Given the description of an element on the screen output the (x, y) to click on. 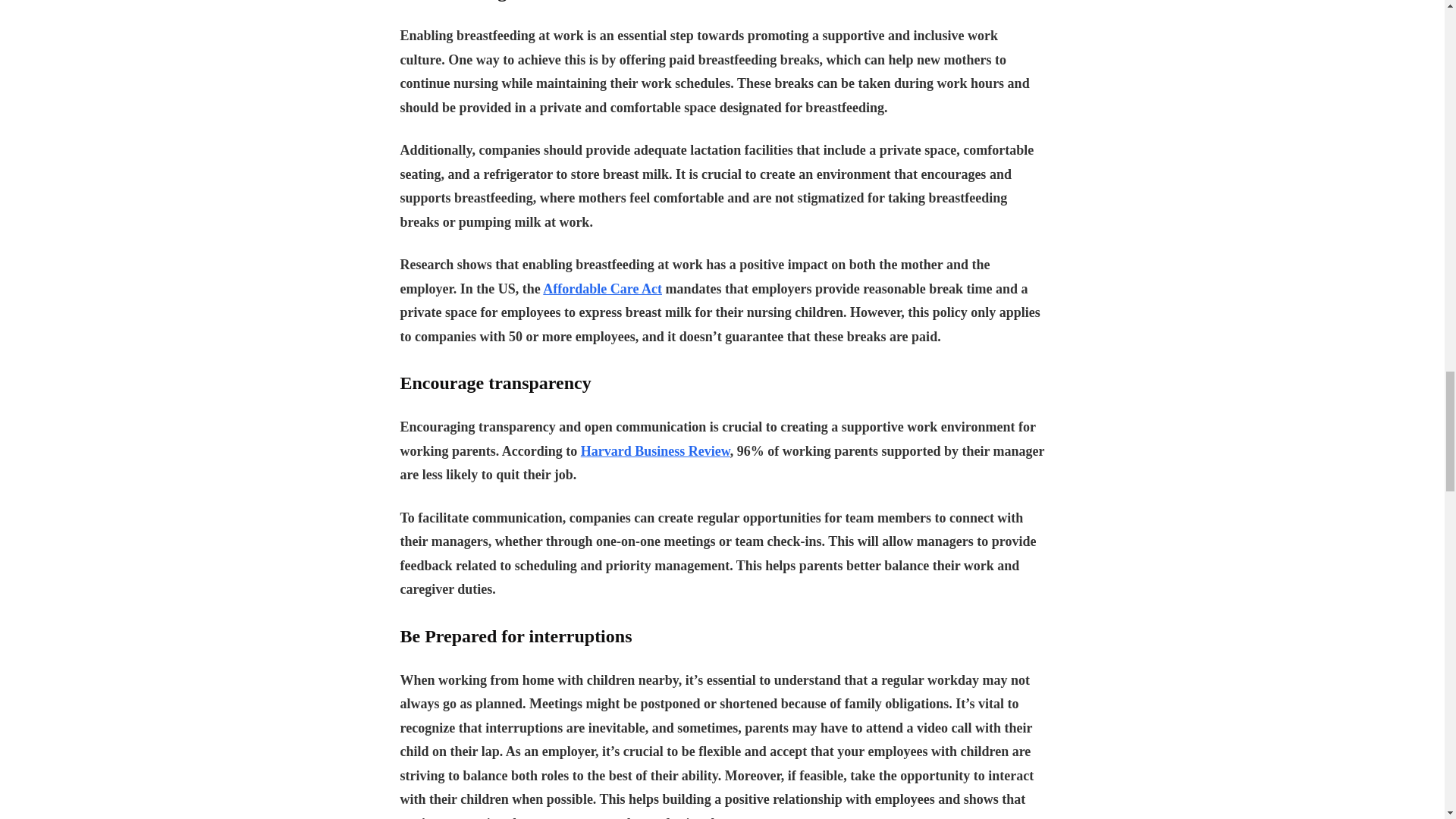
Affordable Care Act (602, 288)
Harvard Business Review (655, 450)
